Given the description of an element on the screen output the (x, y) to click on. 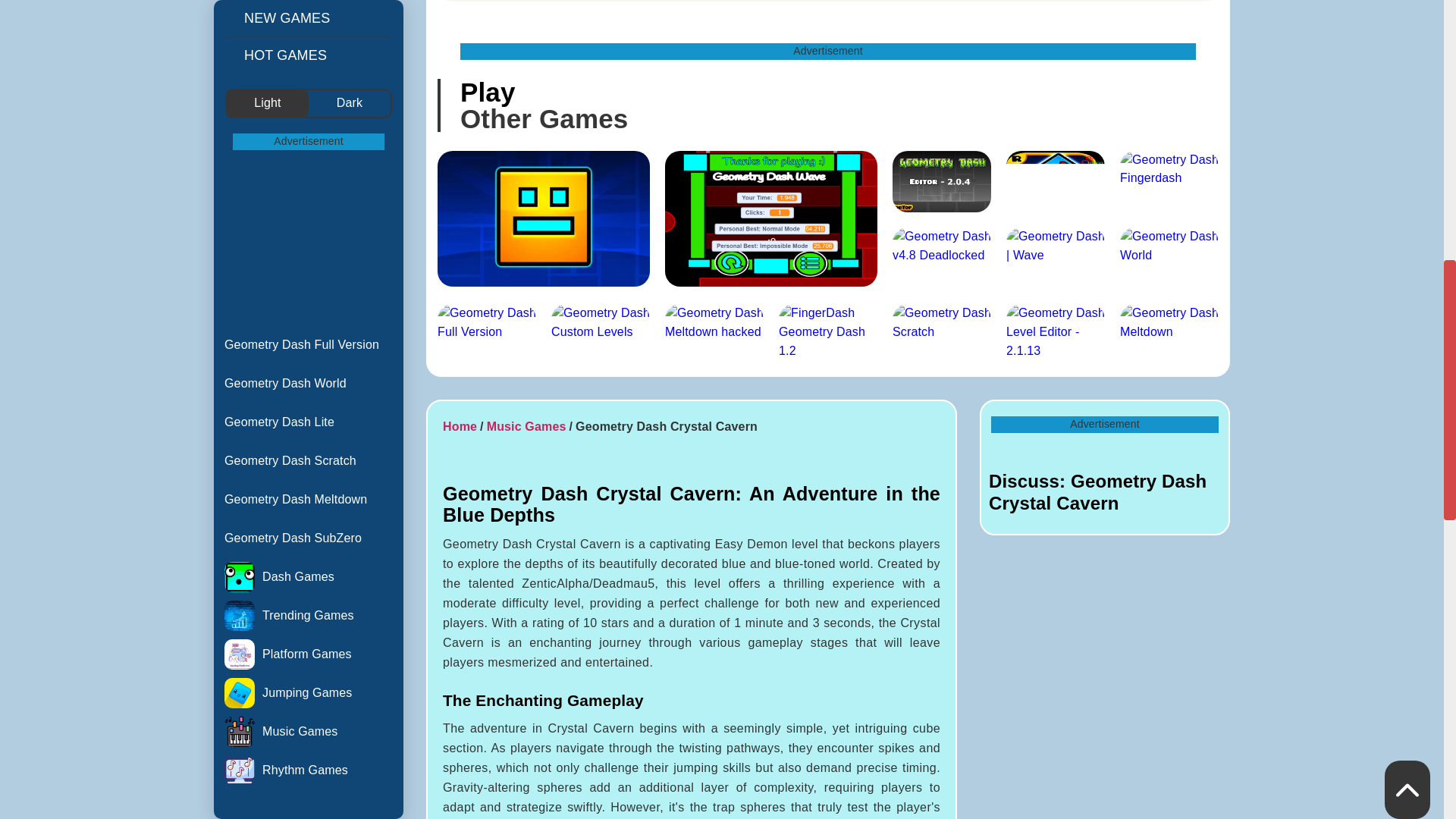
Music Games (308, 8)
Rhythm Games (308, 38)
